Given the description of an element on the screen output the (x, y) to click on. 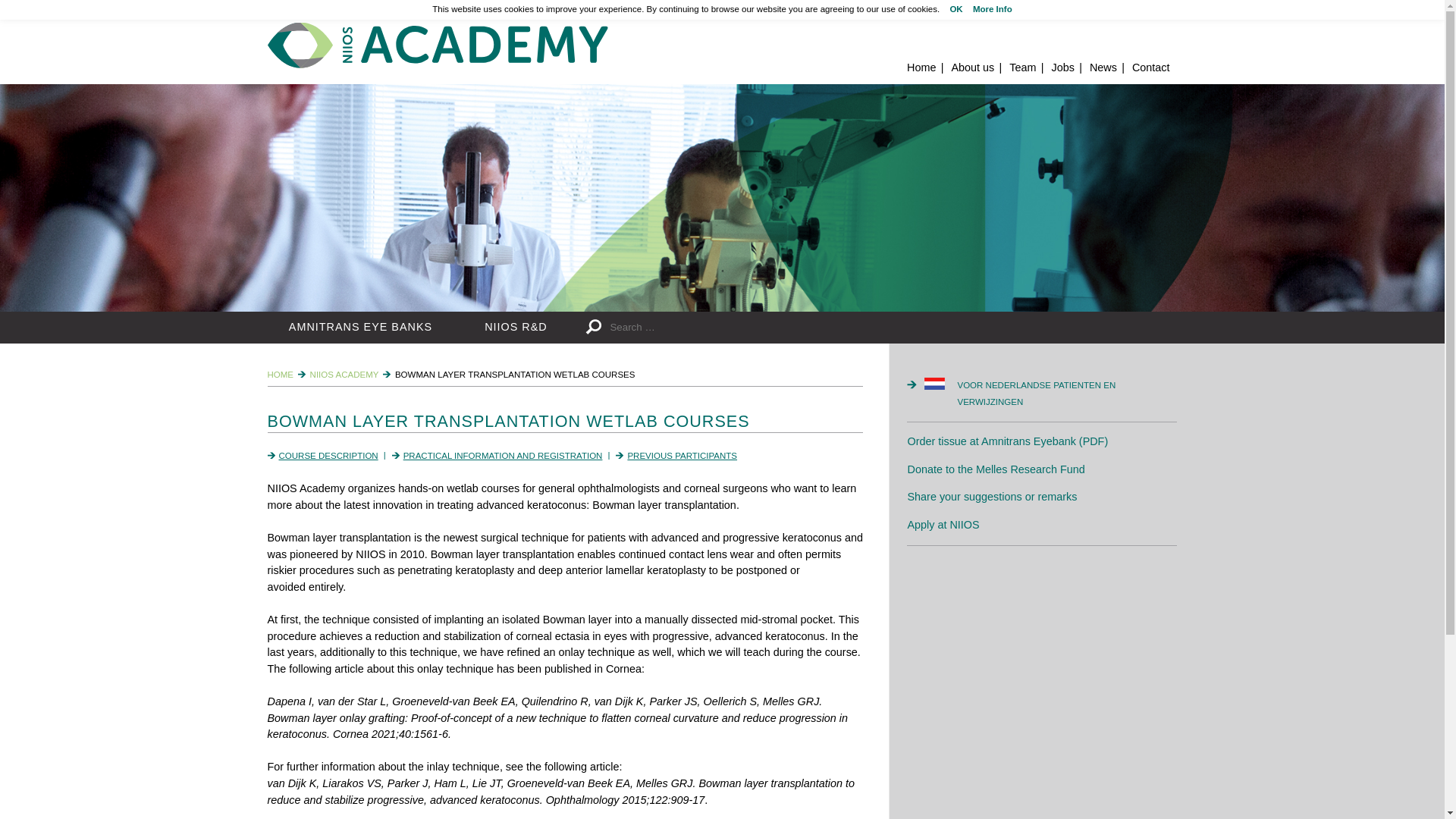
Home (921, 67)
Search (596, 327)
Search for: (730, 327)
Share your suggestions or remarks (992, 496)
Search (596, 327)
Search (596, 327)
COURSE DESCRIPTION (328, 455)
PRACTICAL INFORMATION AND REGISTRATION (502, 455)
PREVIOUS PARTICIPANTS (681, 455)
HOME (280, 374)
VOOR NEDERLANDSE PATIENTEN EN VERWIJZINGEN (1050, 393)
News (1102, 67)
Team (1022, 67)
Jobs (1062, 67)
AMNITRANS EYE BANKS (359, 327)
